Given the description of an element on the screen output the (x, y) to click on. 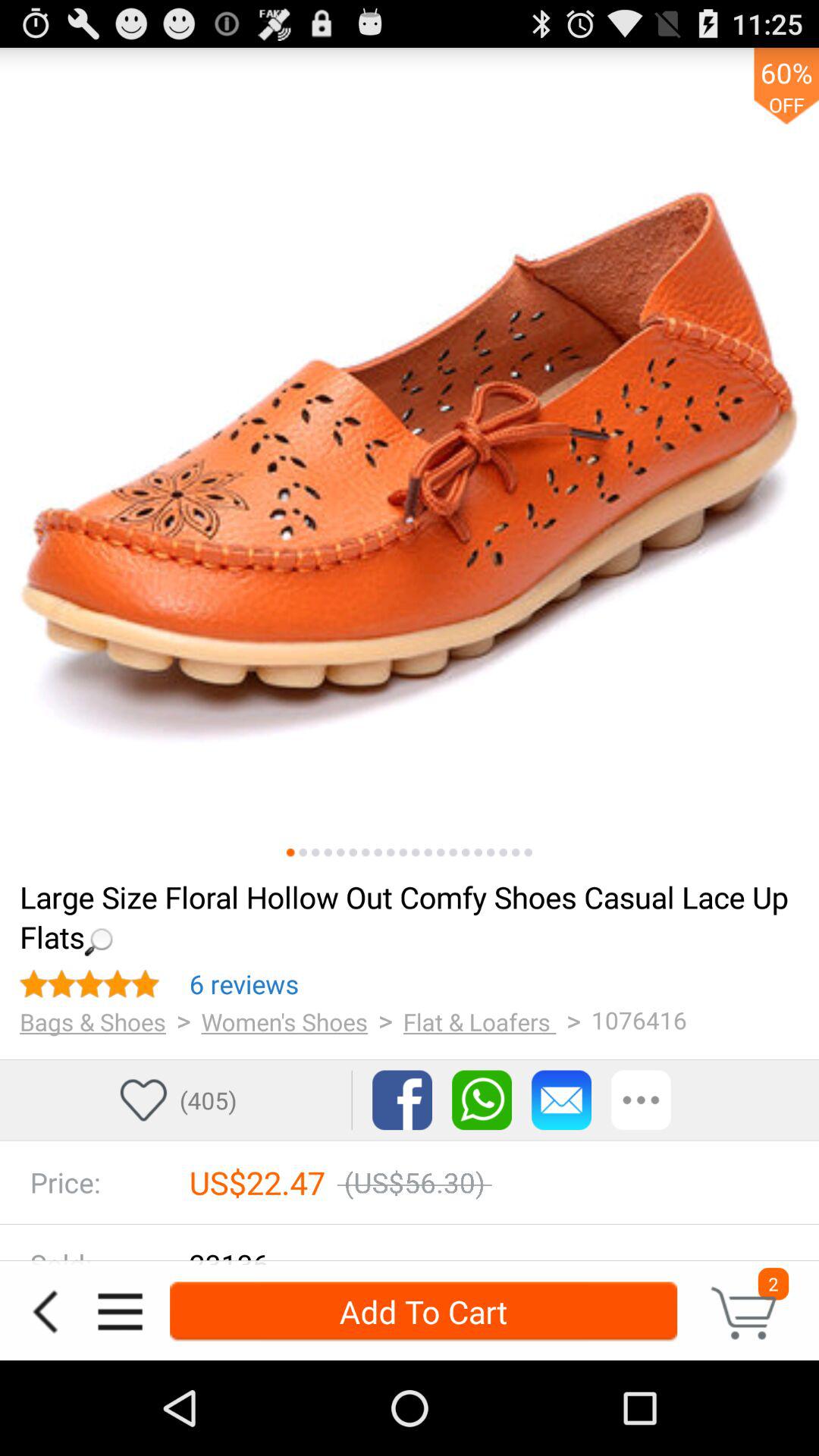
switch to a particular image (503, 852)
